Given the description of an element on the screen output the (x, y) to click on. 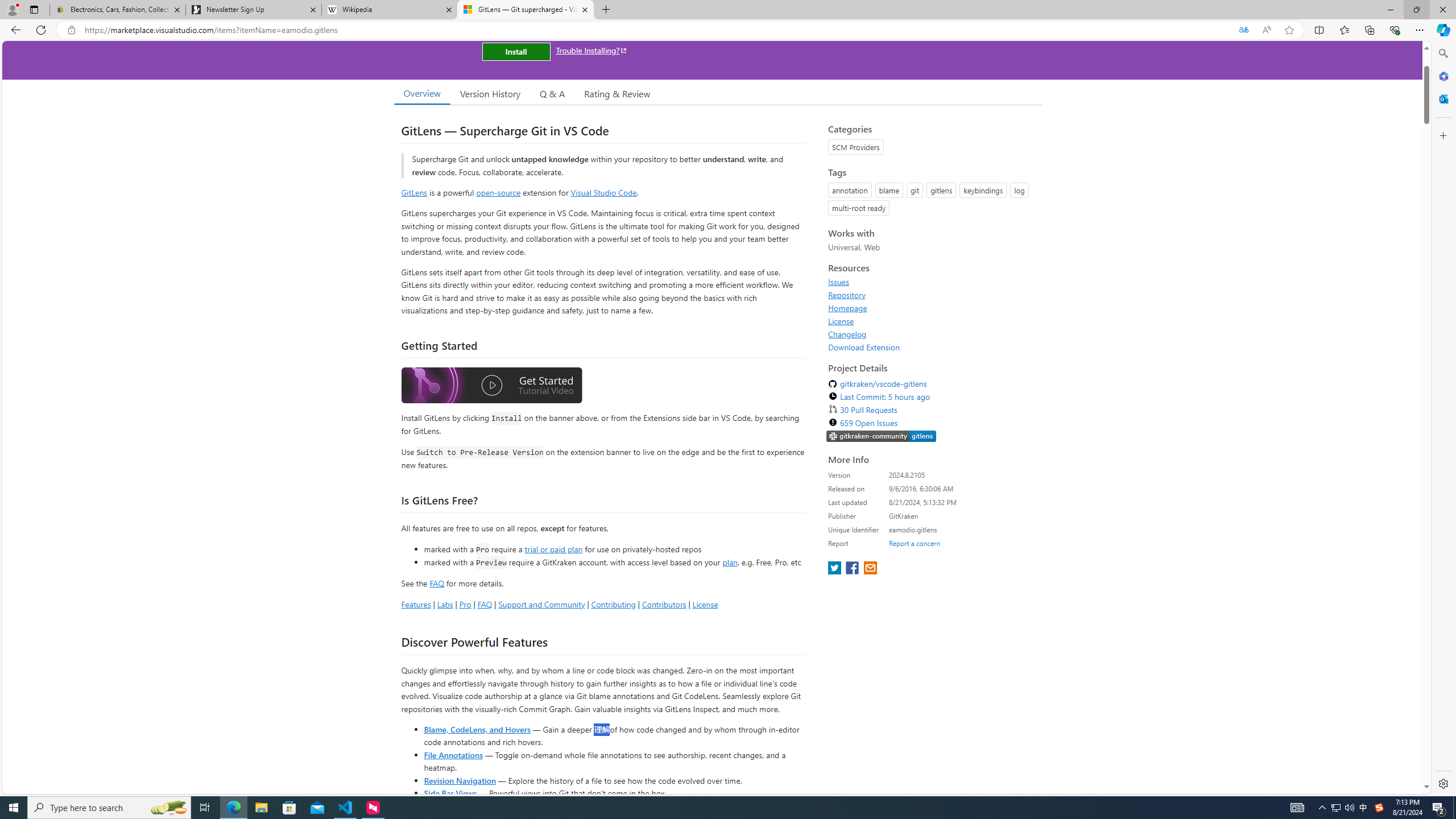
Install (515, 51)
Contributing (613, 603)
Pro (464, 603)
